Given the description of an element on the screen output the (x, y) to click on. 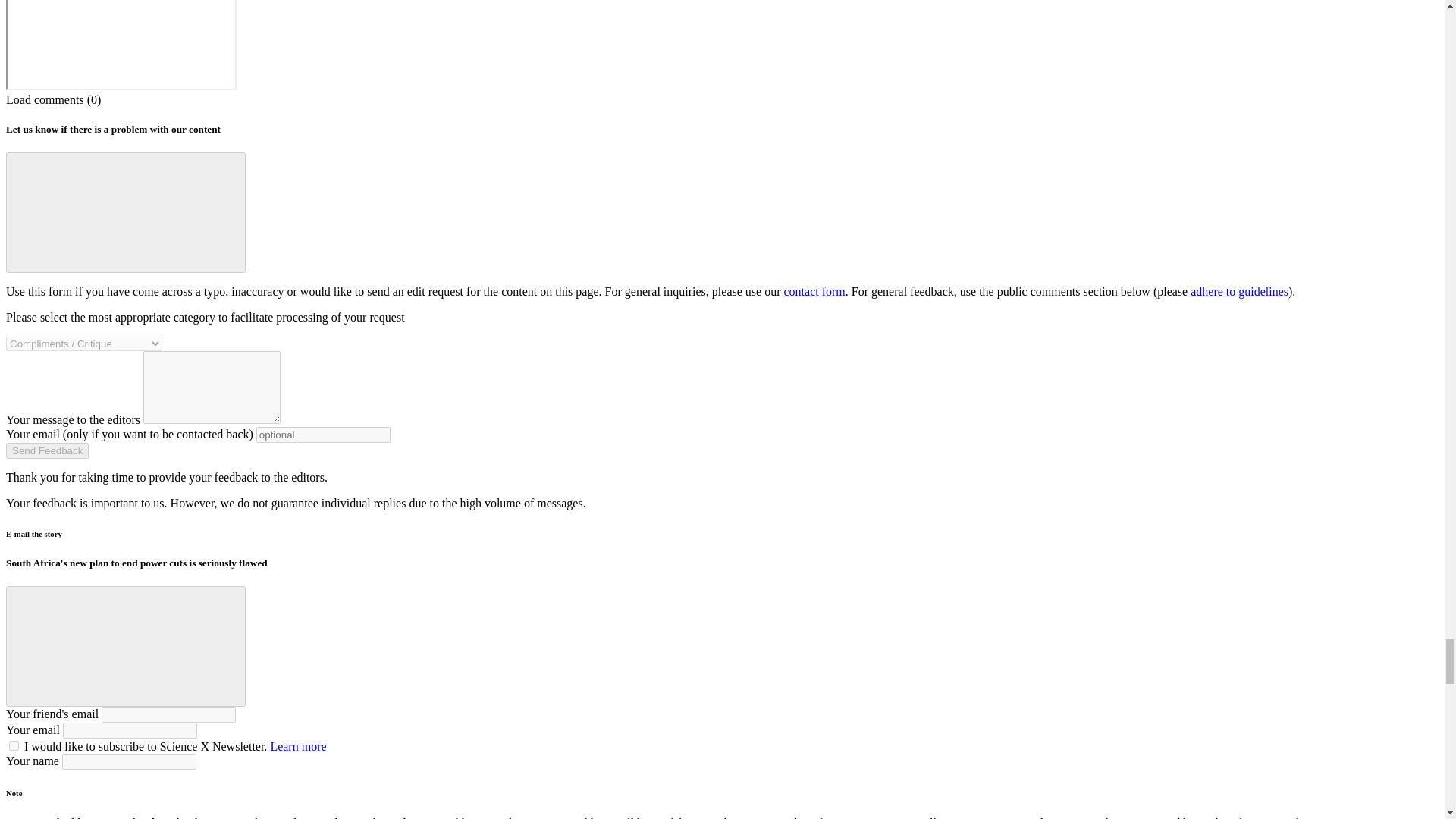
1 (13, 746)
